Given the description of an element on the screen output the (x, y) to click on. 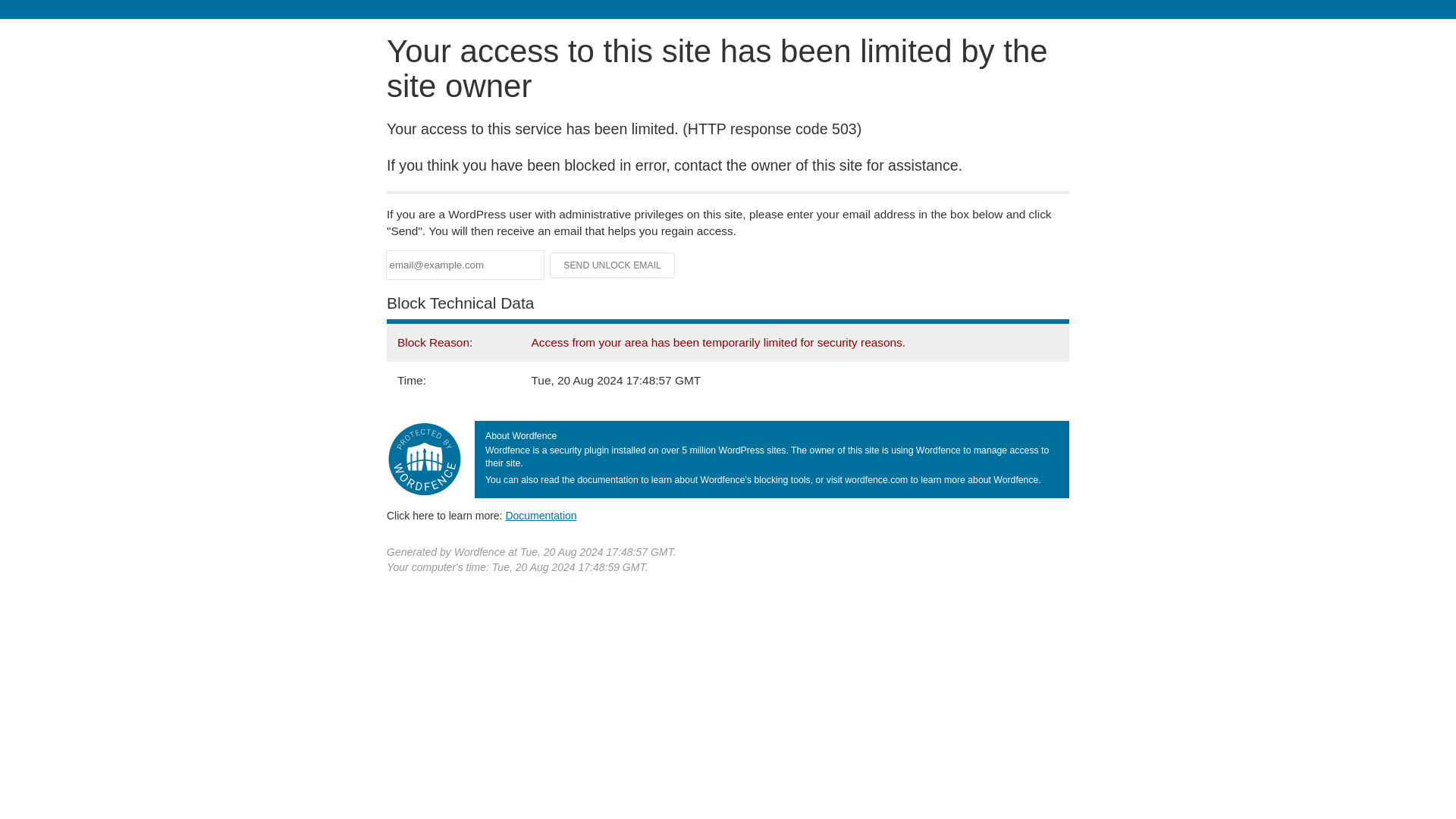
Send Unlock Email (612, 265)
Send Unlock Email (612, 265)
Documentation (540, 515)
